Given the description of an element on the screen output the (x, y) to click on. 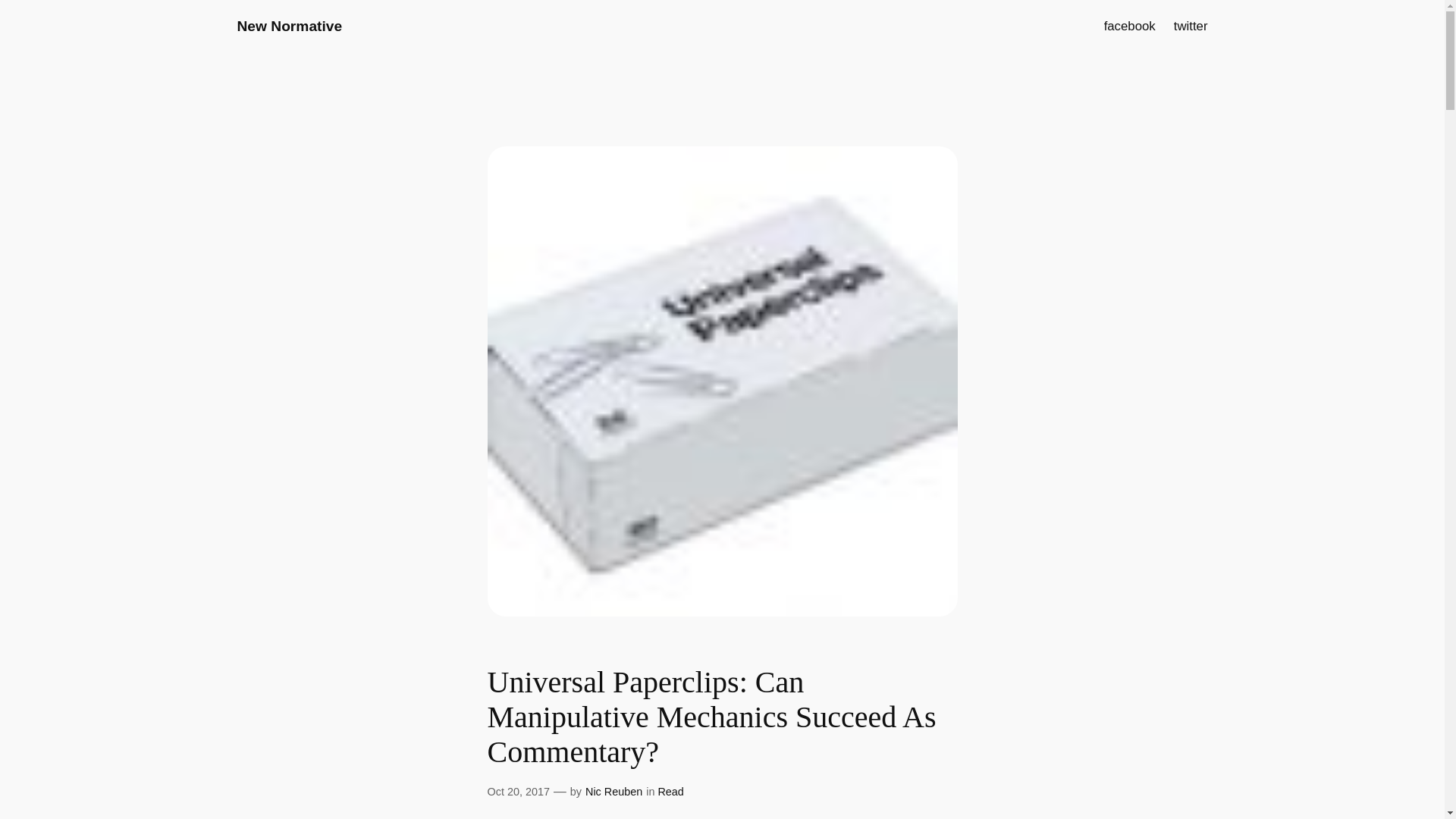
Oct 20, 2017 (517, 791)
facebook (1129, 26)
Nic Reuben (613, 791)
New Normative (288, 26)
Read (670, 791)
twitter (1190, 26)
